Given the description of an element on the screen output the (x, y) to click on. 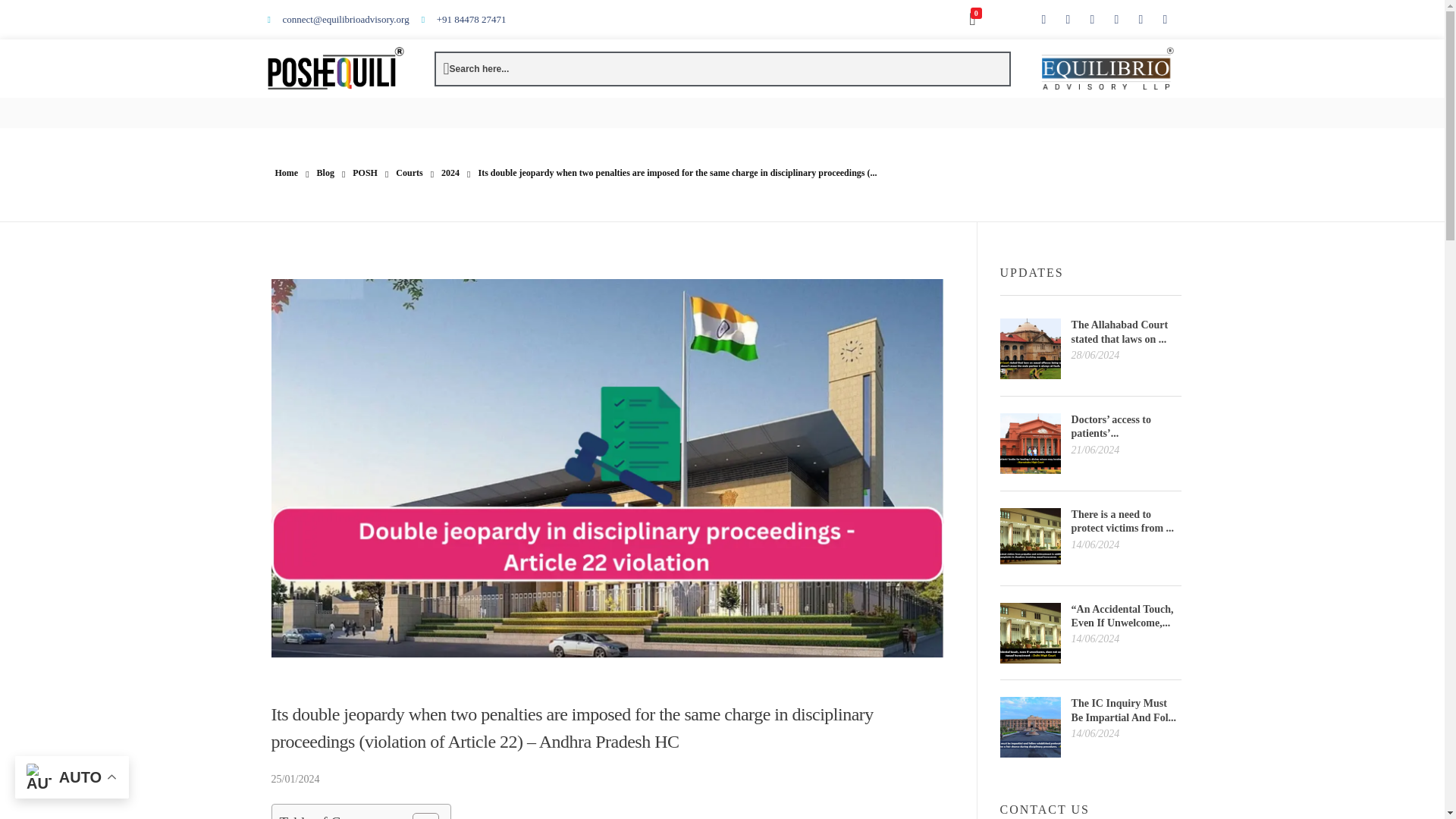
POSH (364, 172)
Search here... (475, 69)
Home (286, 172)
Blog (325, 172)
Courts (409, 172)
2024 (450, 172)
